Given the description of an element on the screen output the (x, y) to click on. 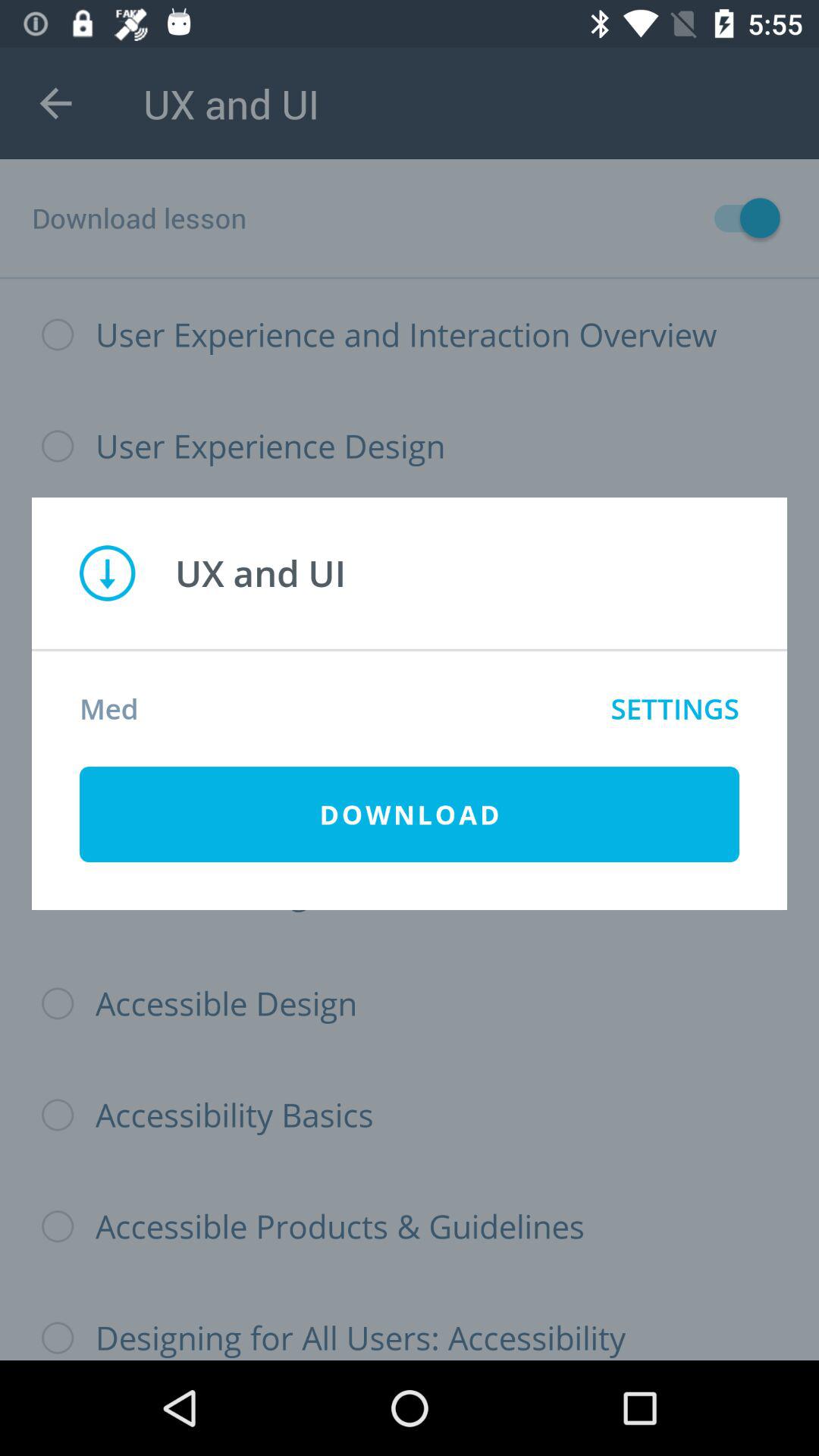
choose settings icon (674, 708)
